Given the description of an element on the screen output the (x, y) to click on. 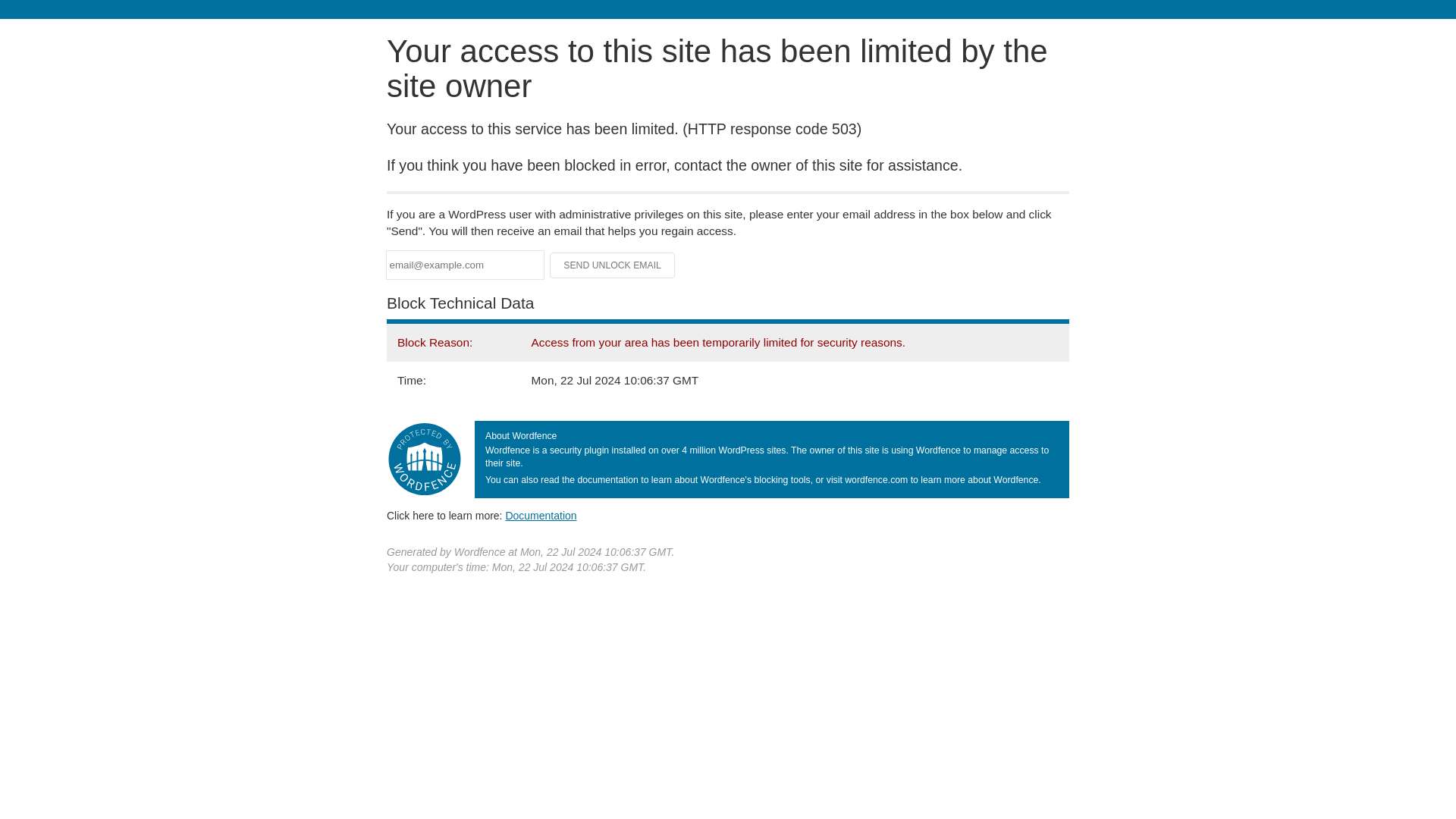
Documentation (540, 515)
Send Unlock Email (612, 265)
Send Unlock Email (612, 265)
